Given the description of an element on the screen output the (x, y) to click on. 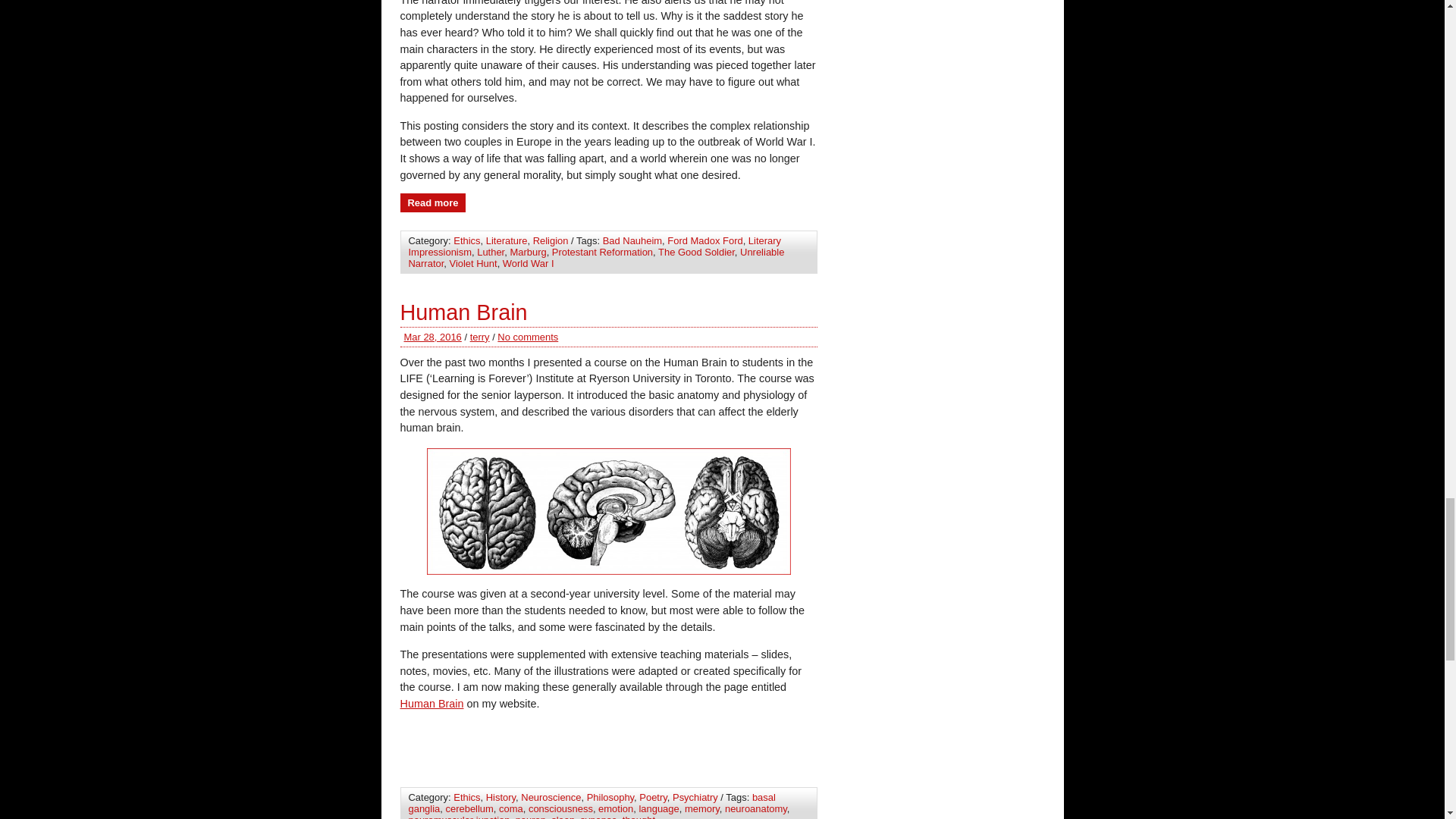
Posts by terry (479, 337)
